Given the description of an element on the screen output the (x, y) to click on. 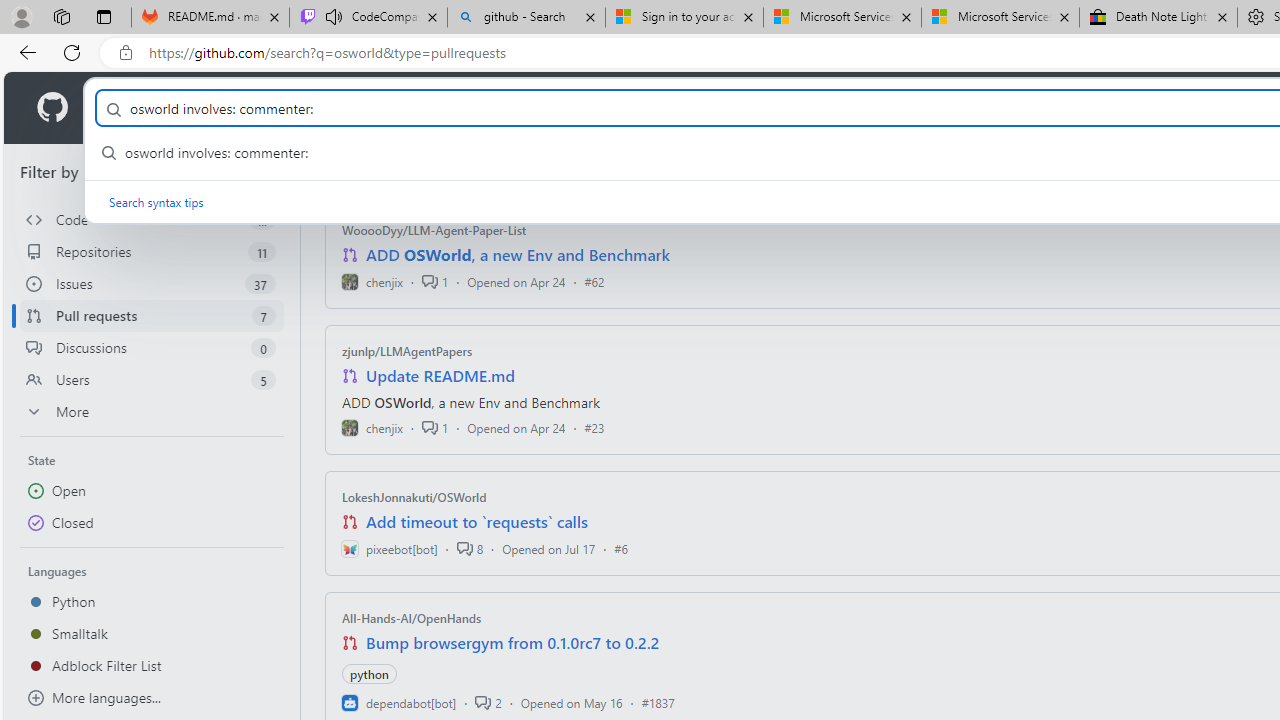
Update README.md (440, 376)
github - Search (526, 17)
chenjix (372, 427)
#23 (594, 427)
Resources (330, 107)
More languages... (152, 697)
2 (487, 702)
Open Source (446, 107)
